Given the description of an element on the screen output the (x, y) to click on. 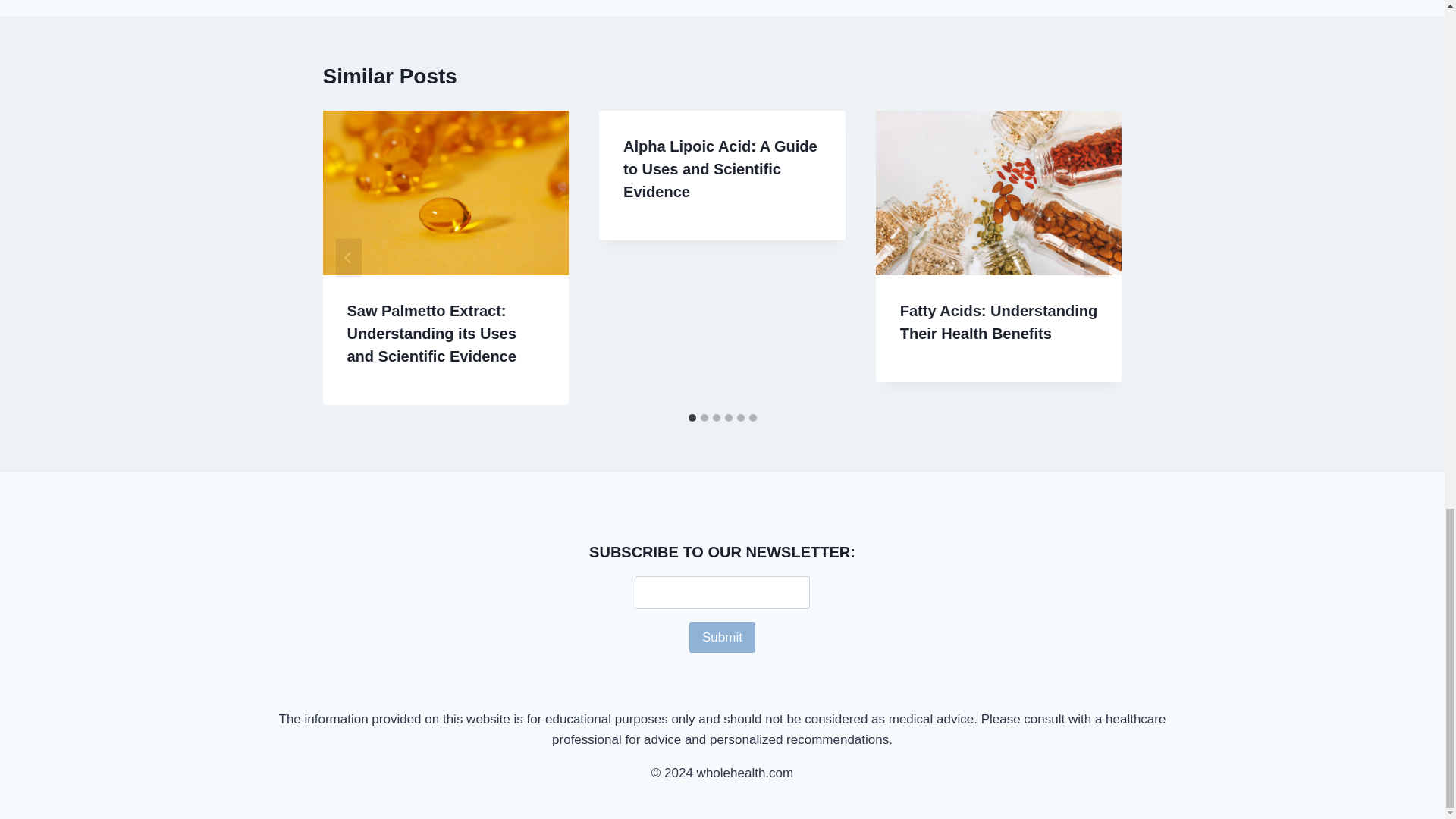
Submit (721, 636)
